Given the description of an element on the screen output the (x, y) to click on. 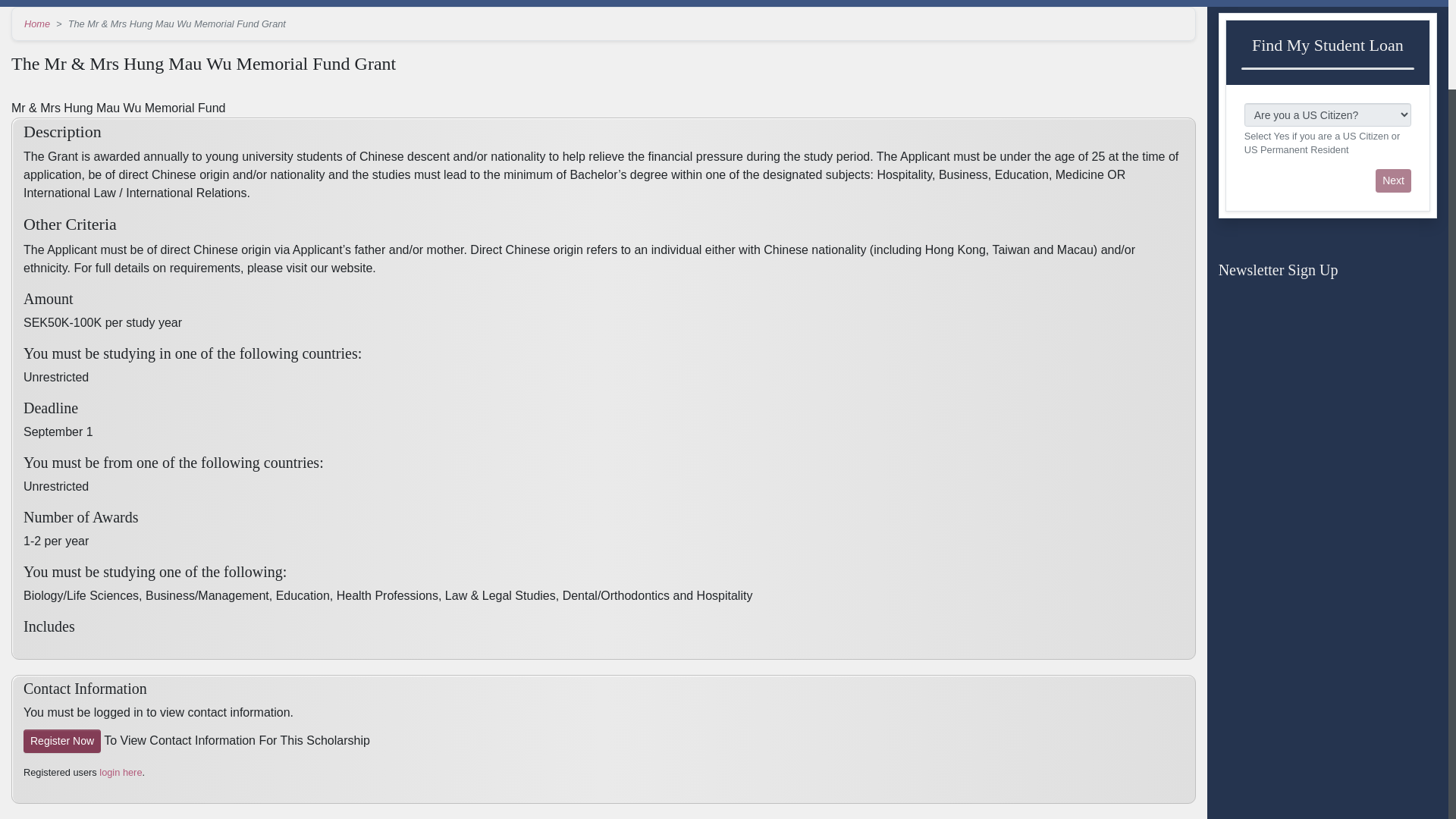
Next (1392, 180)
Register Now (61, 740)
login here (120, 772)
Home (36, 23)
